Given the description of an element on the screen output the (x, y) to click on. 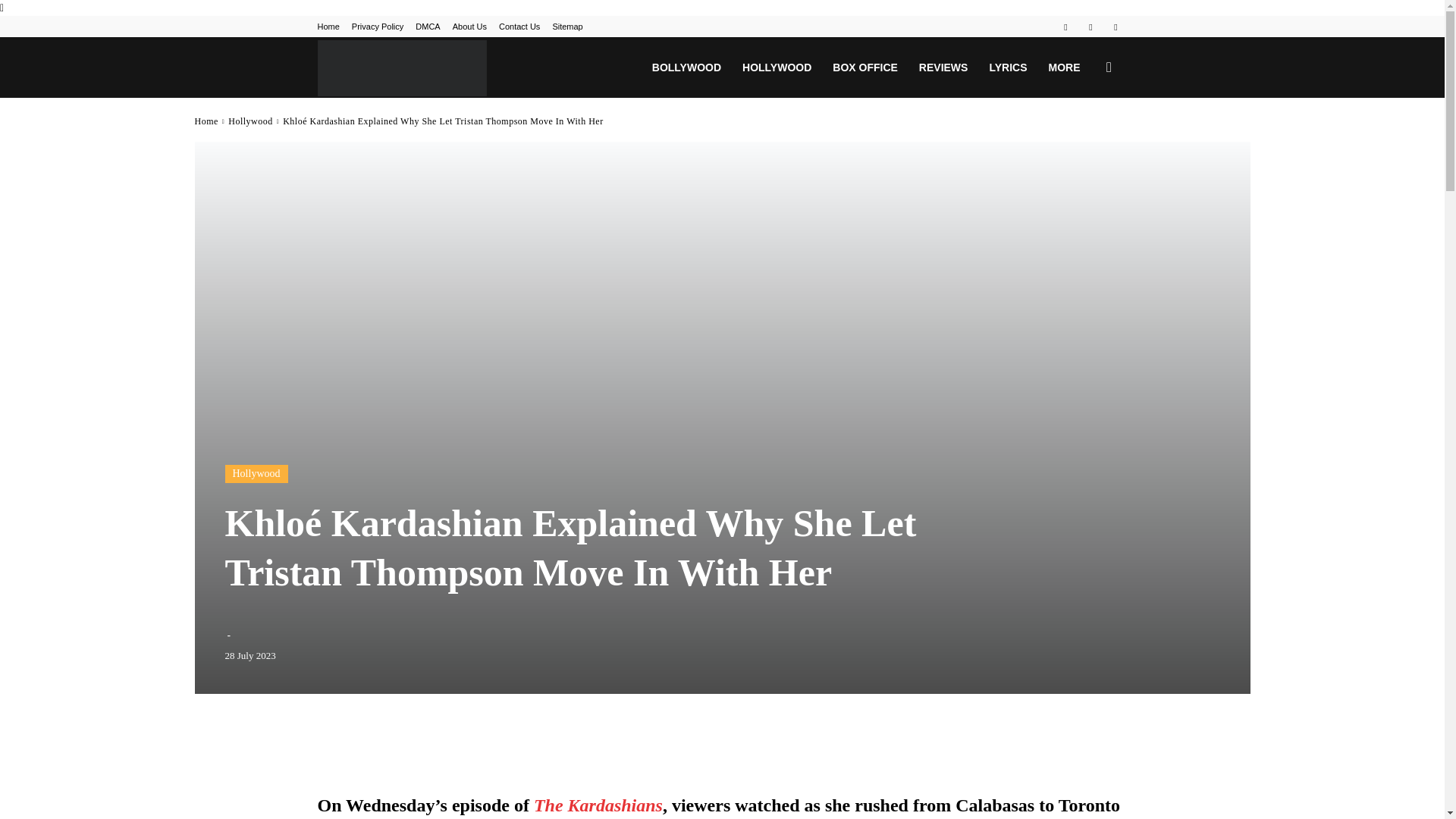
DMCA (426, 26)
About Us (469, 26)
Search (1085, 139)
BOX OFFICE (865, 66)
HOLLYWOOD (777, 66)
Twitter (1114, 25)
View all posts in Hollywood (250, 121)
ECinema News (401, 67)
Privacy Policy (377, 26)
Facebook (1065, 25)
Home (328, 26)
BOLLYWOOD (687, 66)
Contact Us (519, 26)
LYRICS (1007, 66)
Pinterest (1090, 25)
